Given the description of an element on the screen output the (x, y) to click on. 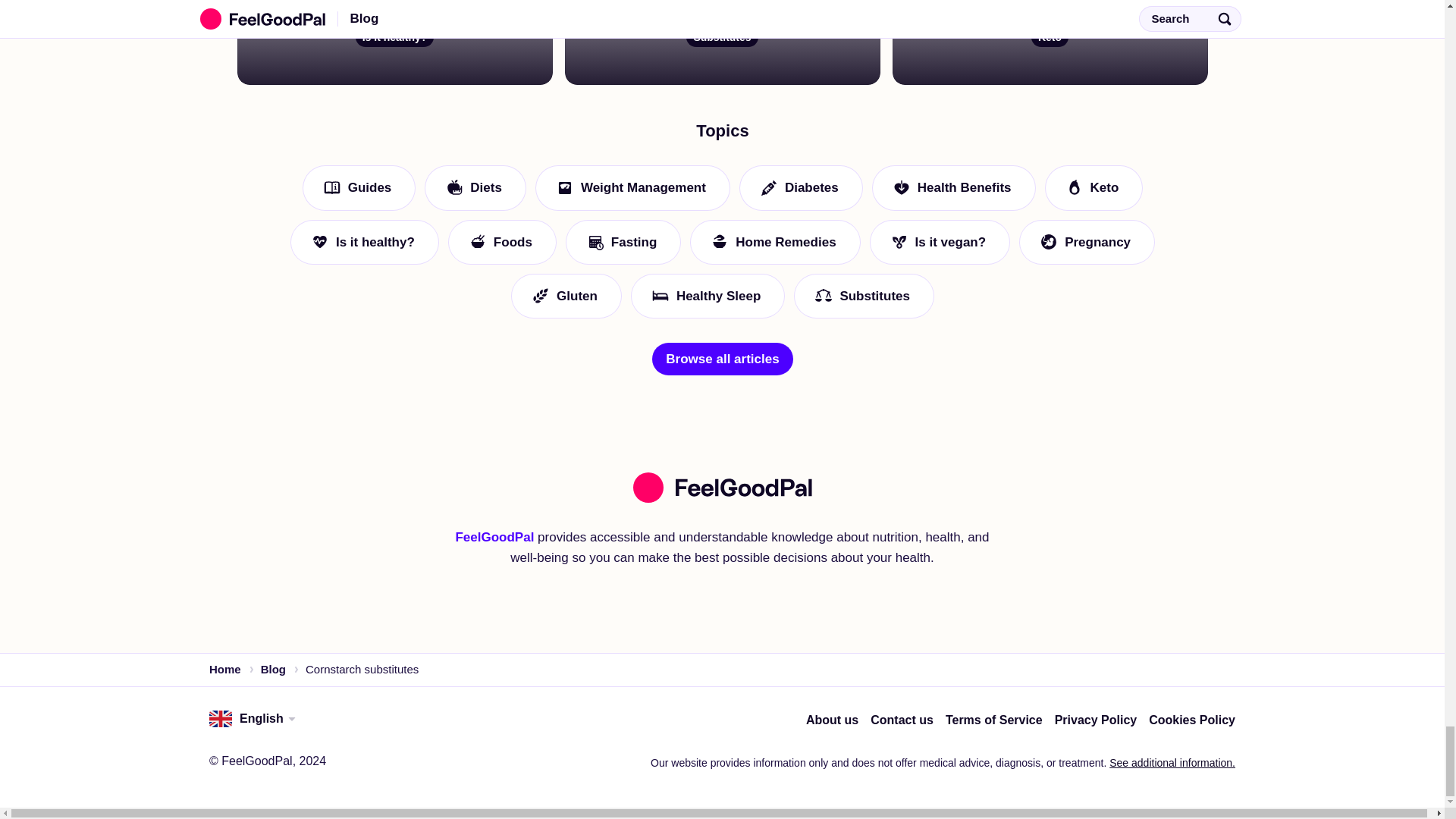
Weight Management (631, 504)
Health Benefits (952, 504)
Diabetes (799, 504)
Keto (1092, 504)
Diets (475, 504)
Guides (357, 504)
